Given the description of an element on the screen output the (x, y) to click on. 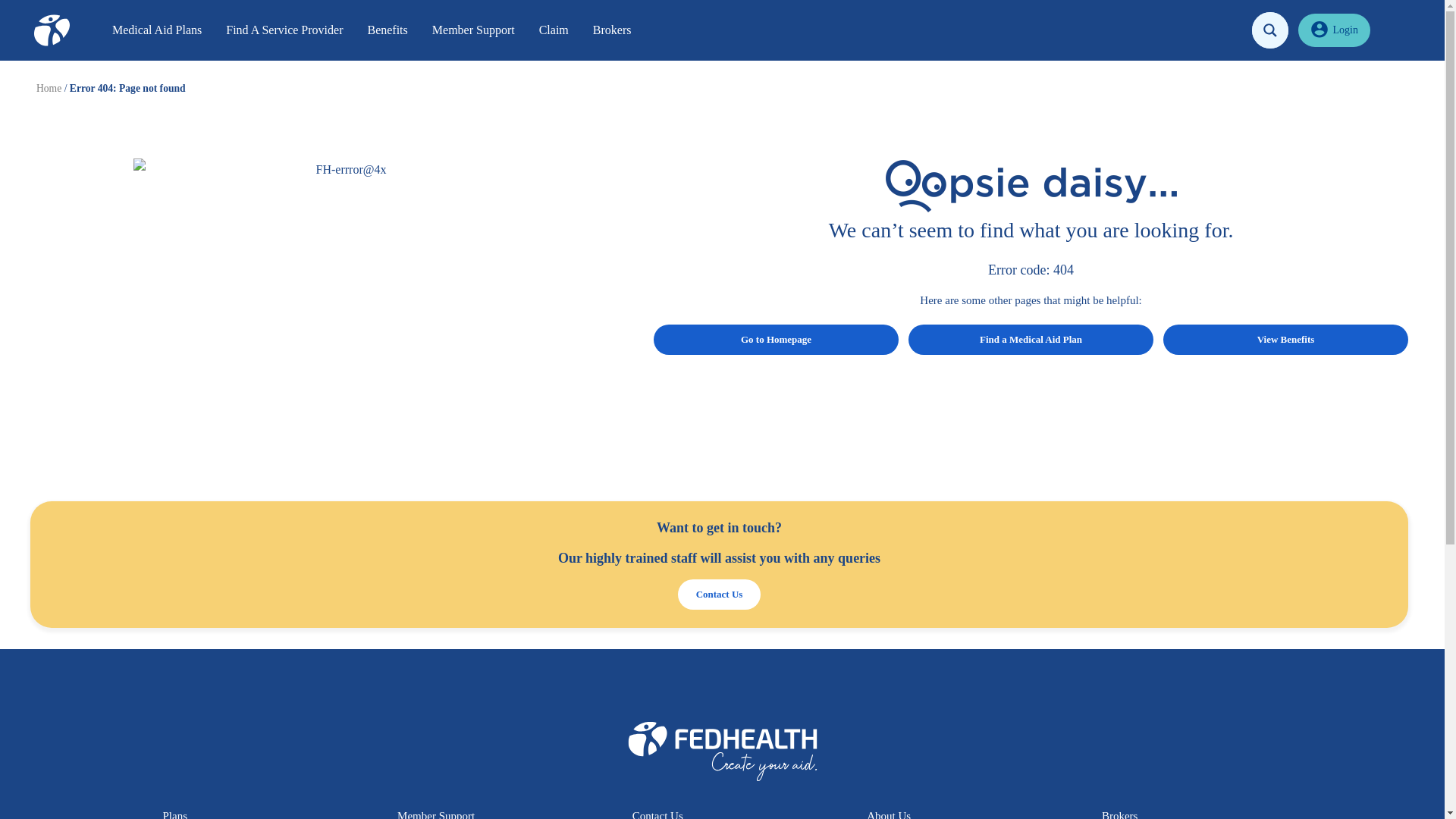
Medical Aid Plans (157, 30)
Login (1334, 29)
Benefits (387, 30)
Find A Service Provider (284, 30)
Brokers (611, 30)
Member Support (473, 30)
